Given the description of an element on the screen output the (x, y) to click on. 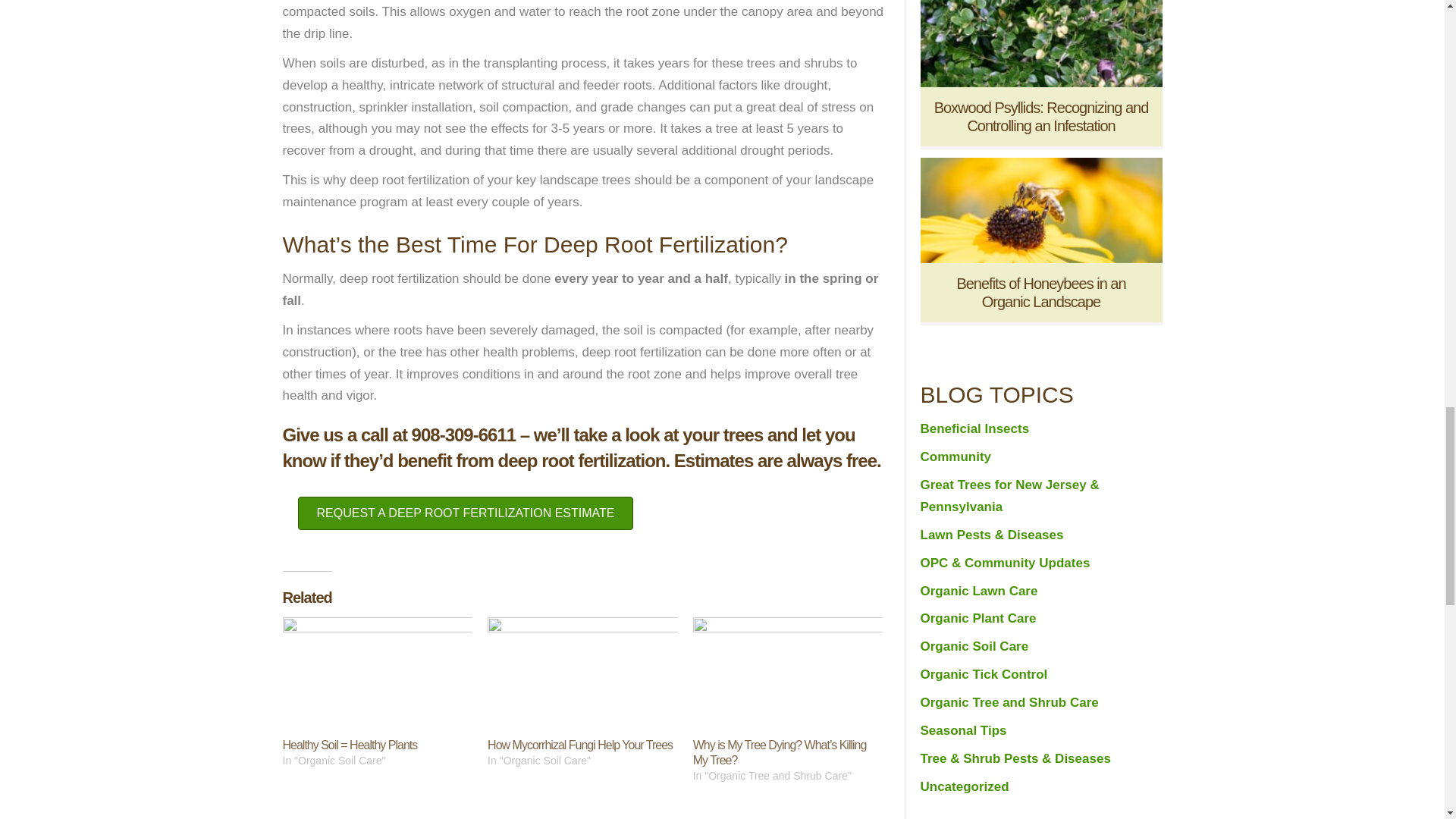
REQUEST A DEEP ROOT FERTILIZATION ESTIMATE (465, 512)
Benefits of Honeybees in an Organic Landscape (1040, 209)
908-309-6611 (463, 435)
Boxwood Psyllids: Recognizing and Controlling an Infestation (1040, 33)
How Mycorrhizal Fungi Help Your Trees (579, 744)
How Mycorrhizal Fungi Help Your Trees (582, 671)
Boxwood Psyllids: Recognizing and Controlling an Infestation (1041, 116)
